Given the description of an element on the screen output the (x, y) to click on. 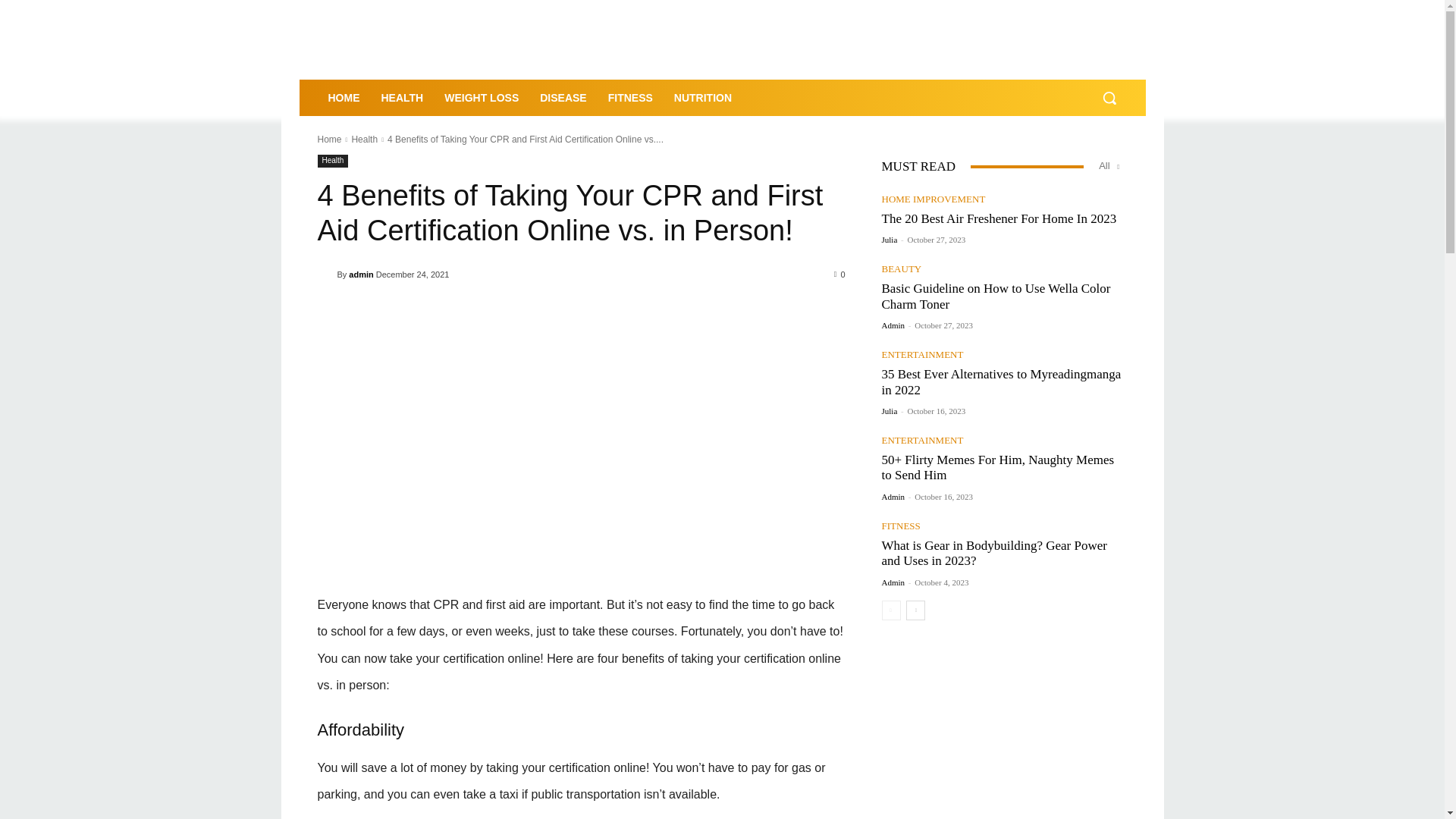
NUTRITION (702, 97)
HEALTH (401, 97)
0 (839, 273)
DISEASE (562, 97)
admin (360, 273)
HOME (343, 97)
Health (363, 139)
Home (328, 139)
View all posts in Health (363, 139)
admin (326, 273)
FITNESS (629, 97)
WEIGHT LOSS (481, 97)
Health (332, 160)
